Given the description of an element on the screen output the (x, y) to click on. 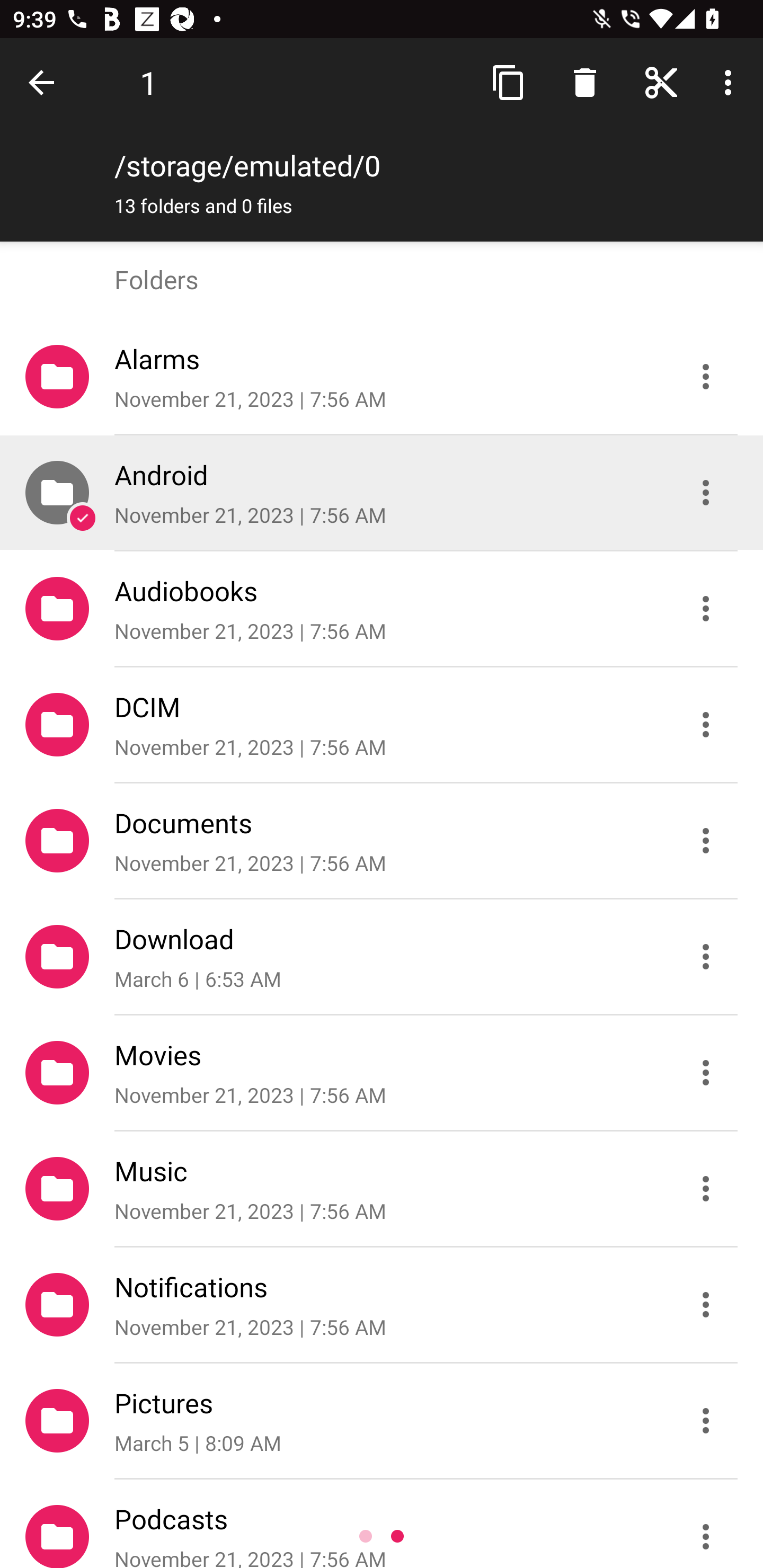
1 (148, 82)
Done (44, 81)
Copy (508, 81)
Delete (585, 81)
Search (661, 81)
More options (731, 81)
Alarms November 21, 2023 | 7:56 AM (381, 376)
Android November 21, 2023 | 7:56 AM (381, 492)
Audiobooks November 21, 2023 | 7:56 AM (381, 608)
DCIM November 21, 2023 | 7:56 AM (381, 724)
Documents November 21, 2023 | 7:56 AM (381, 841)
Download March 6 | 6:53 AM (381, 957)
Movies November 21, 2023 | 7:56 AM (381, 1073)
Music November 21, 2023 | 7:56 AM (381, 1189)
Notifications November 21, 2023 | 7:56 AM (381, 1305)
Pictures March 5 | 8:09 AM (381, 1421)
Podcasts November 21, 2023 | 7:56 AM (381, 1524)
